Given the description of an element on the screen output the (x, y) to click on. 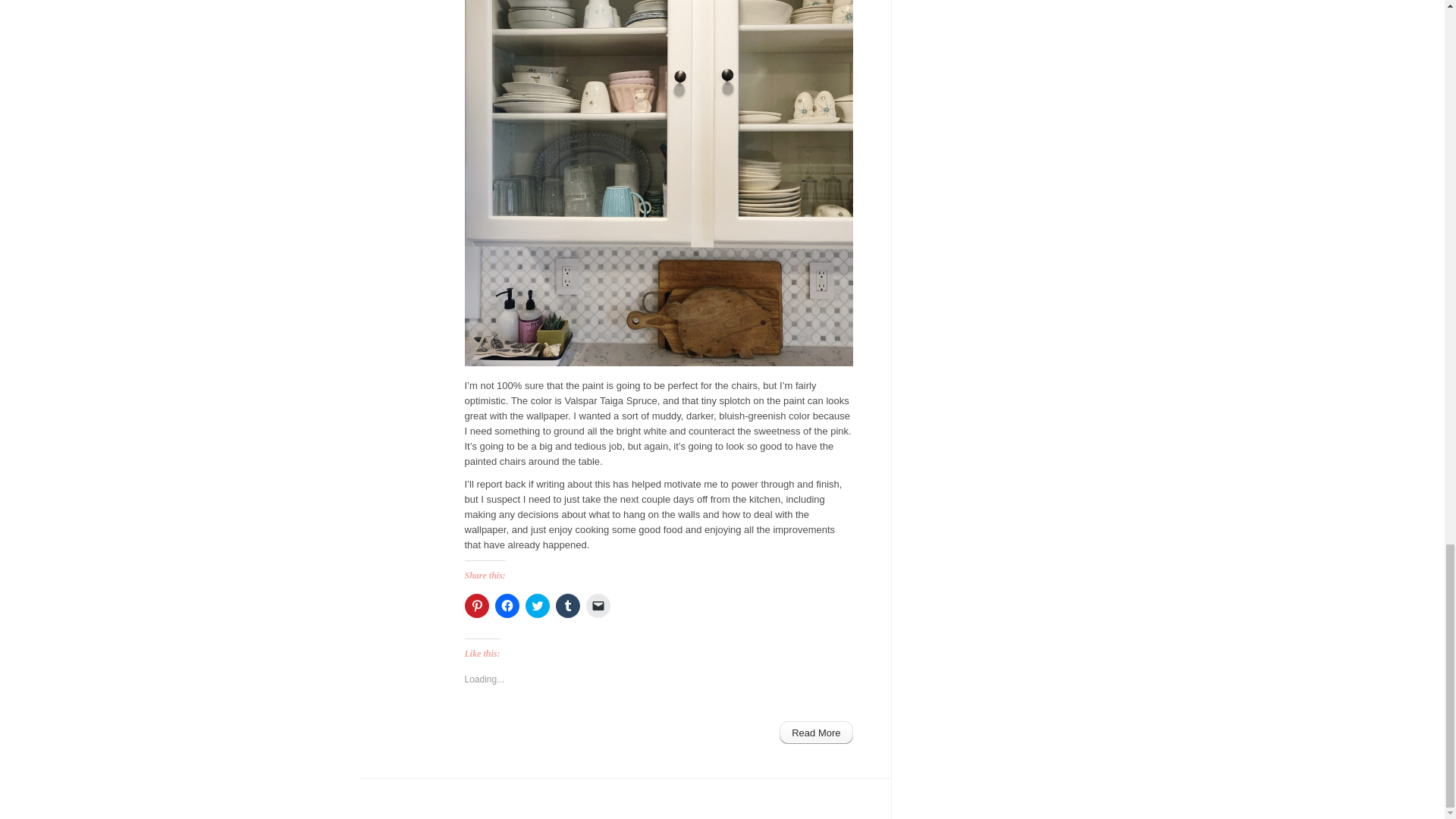
Click to email a link to a friend (597, 605)
Click to share on Facebook (506, 605)
Read More (814, 732)
Click to share on Twitter (536, 605)
Click to share on Tumblr (566, 605)
Click to share on Pinterest (475, 605)
